Given the description of an element on the screen output the (x, y) to click on. 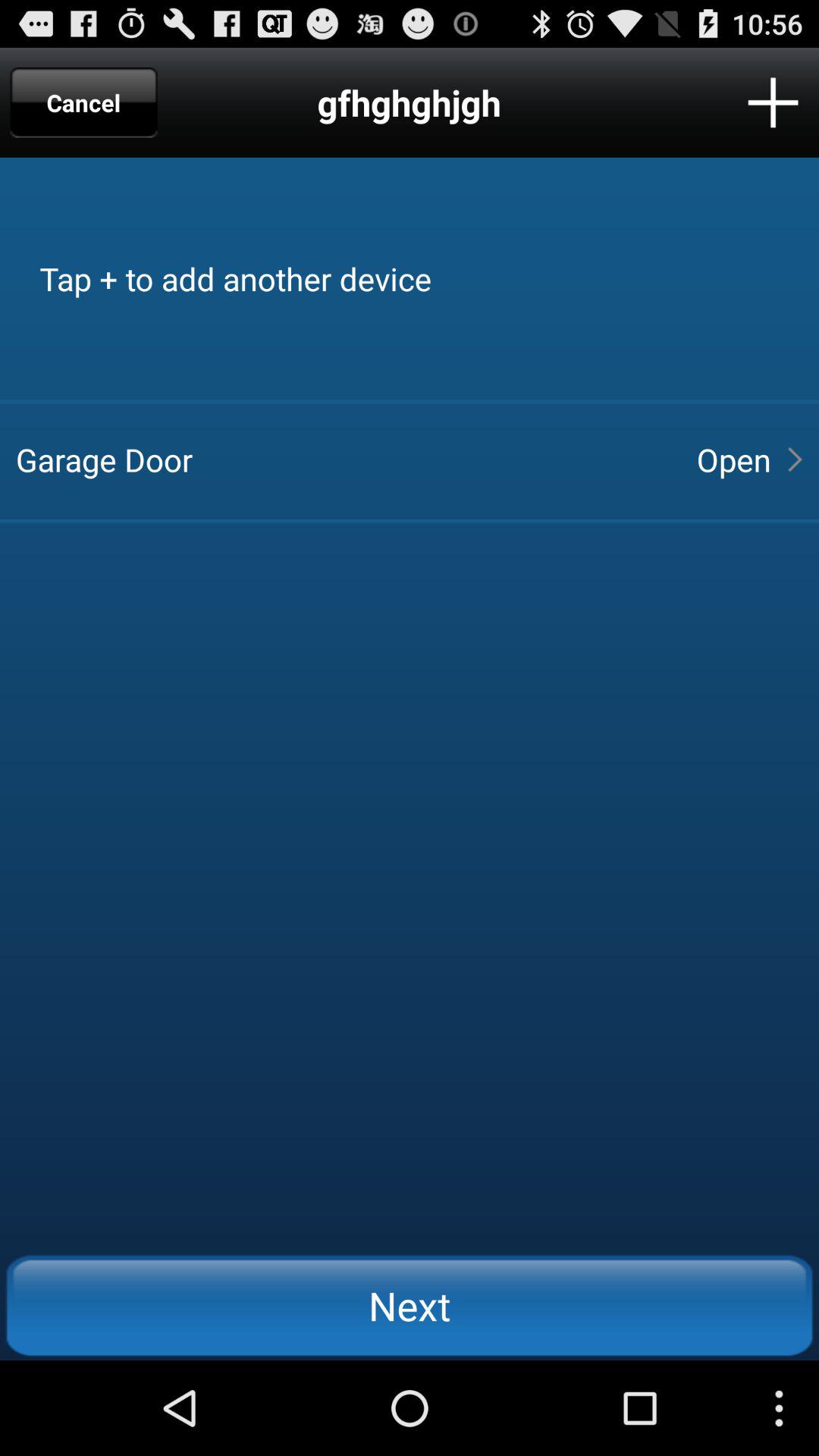
click item below the tap to add app (342, 459)
